Given the description of an element on the screen output the (x, y) to click on. 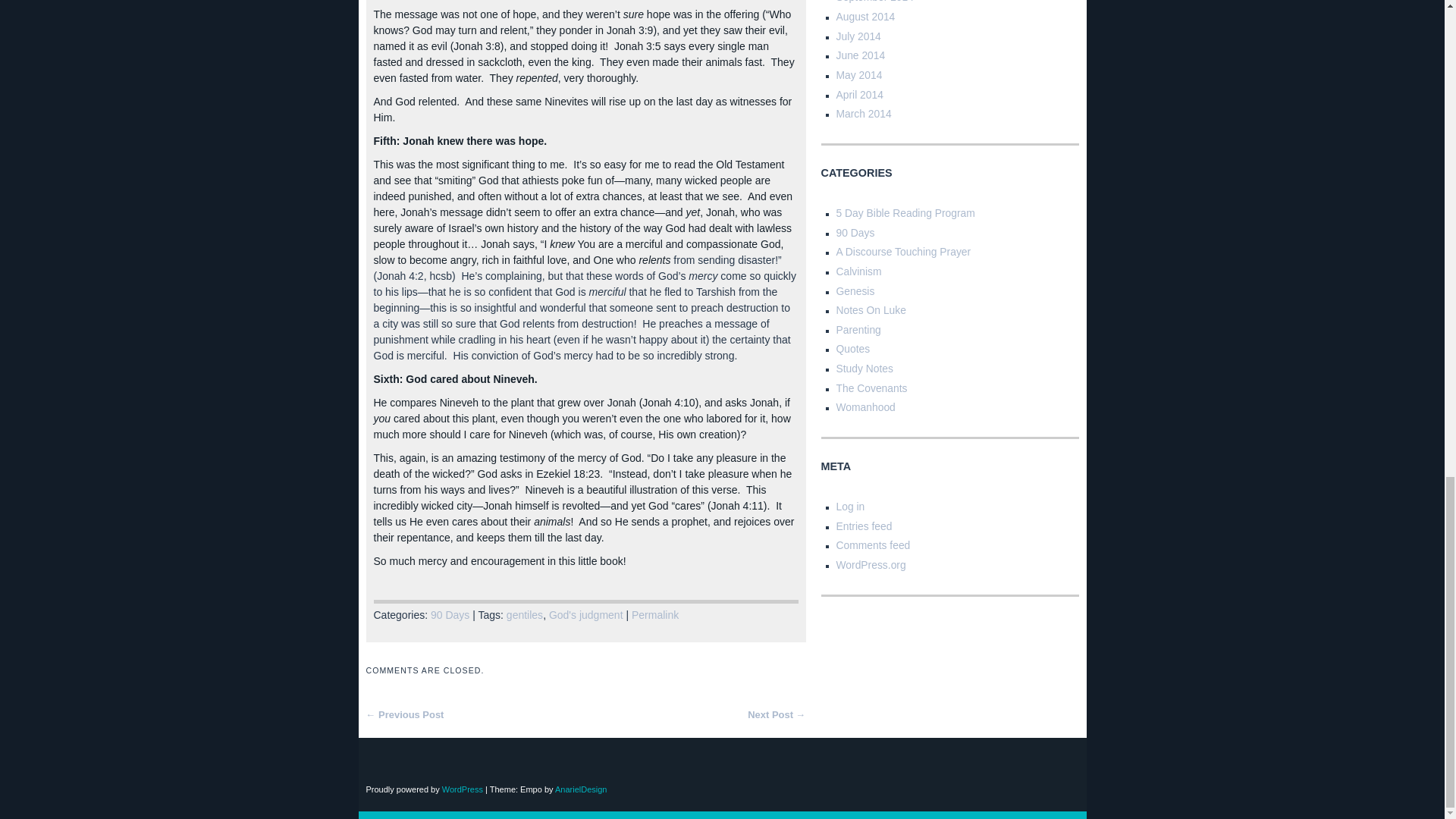
Permalink (654, 614)
90 Days (449, 614)
gentiles (524, 614)
God's judgment (585, 614)
